Given the description of an element on the screen output the (x, y) to click on. 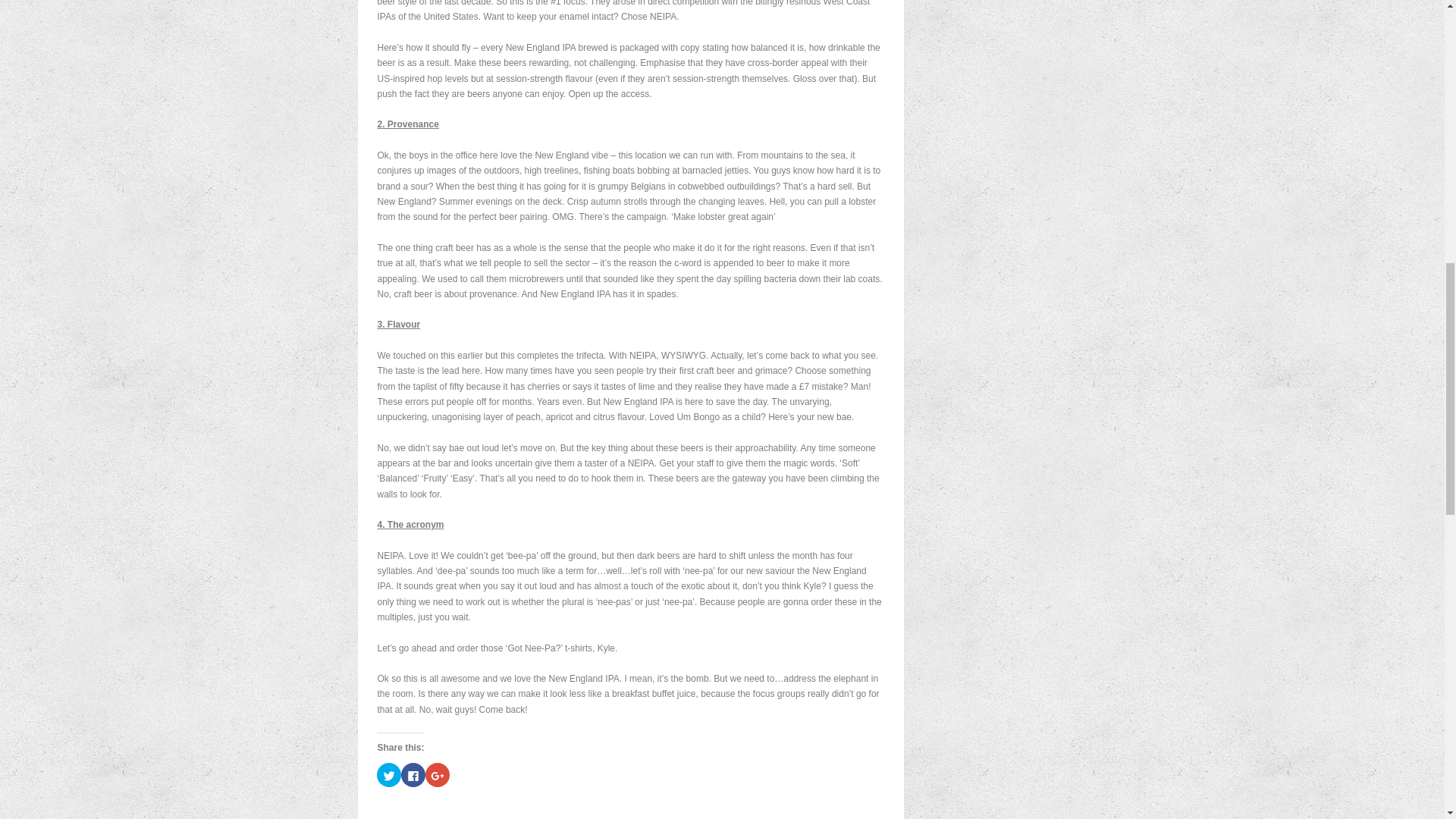
Click to share on Twitter (389, 774)
Click to share on Facebook (413, 774)
